Given the description of an element on the screen output the (x, y) to click on. 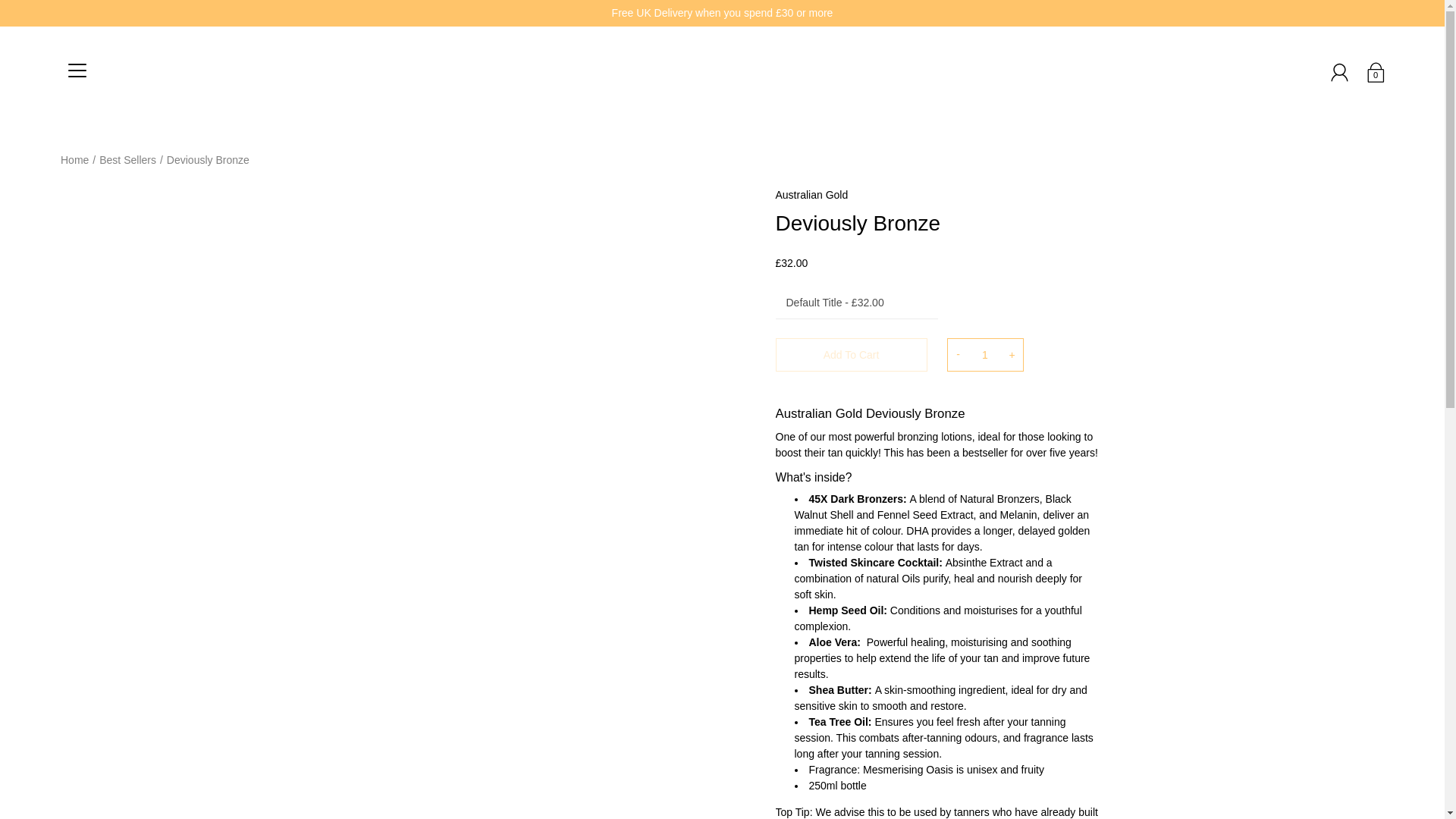
Home (74, 159)
Back to the Homepage (74, 159)
Best Sellers (127, 159)
1 (984, 354)
Add To Cart (850, 354)
0 (1374, 71)
